Given the description of an element on the screen output the (x, y) to click on. 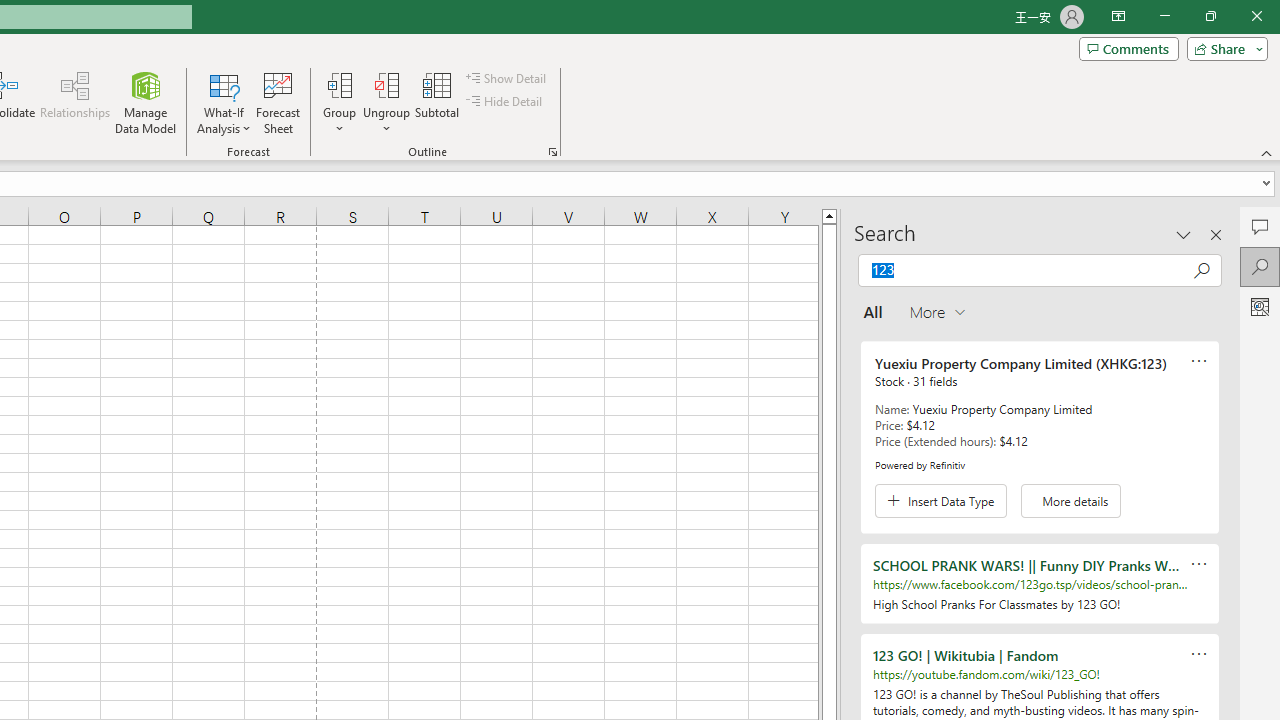
More Options (386, 121)
Ribbon Display Options (1118, 16)
Ungroup... (386, 102)
Comments (1260, 226)
Group and Outline Settings (552, 151)
What-If Analysis (223, 102)
Group... (339, 102)
Ungroup... (386, 84)
Show Detail (507, 78)
Restore Down (1210, 16)
Line up (829, 215)
